Given the description of an element on the screen output the (x, y) to click on. 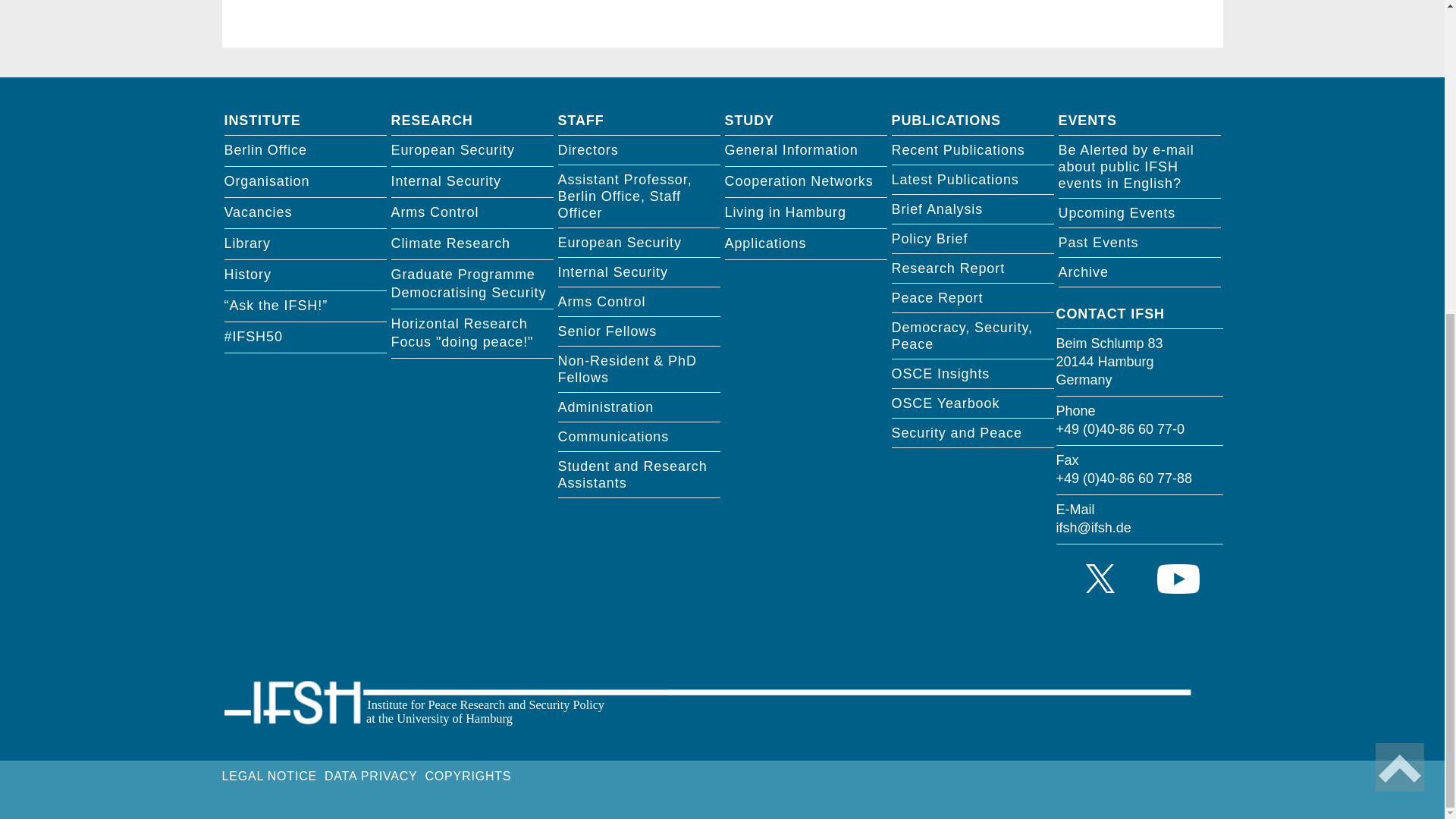
Be Alerted by e-mail about public IFSH events in English? (1139, 167)
Communications (638, 437)
Past Events (1139, 242)
Policy Brief (972, 238)
Archive (1139, 272)
Internal Security (638, 272)
Directors (638, 150)
Recent Publications (972, 150)
Latest Publications (972, 179)
Upcoming Events (1139, 213)
